Given the description of an element on the screen output the (x, y) to click on. 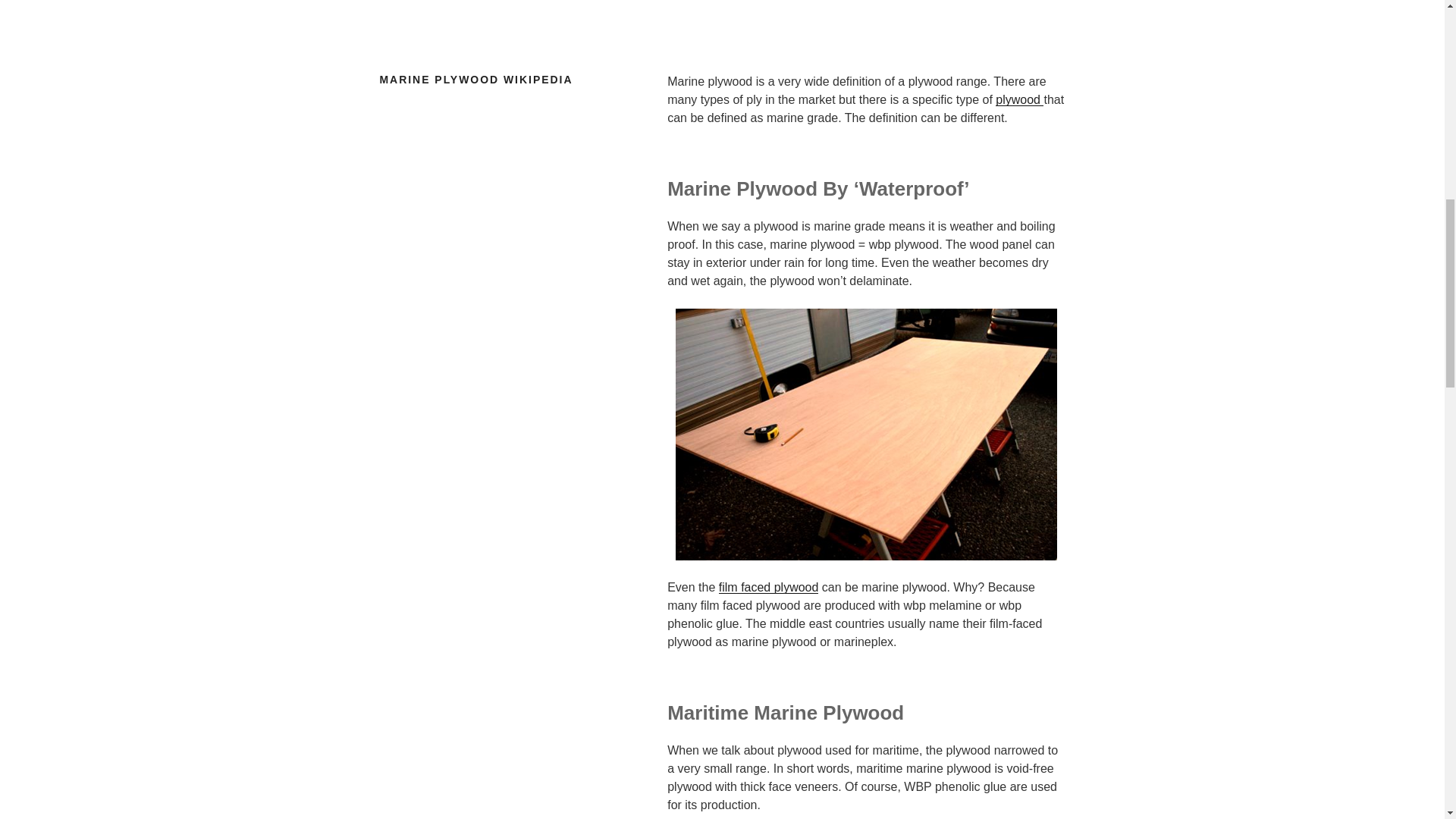
film faced plywood (768, 586)
plywood (1019, 99)
